Given the description of an element on the screen output the (x, y) to click on. 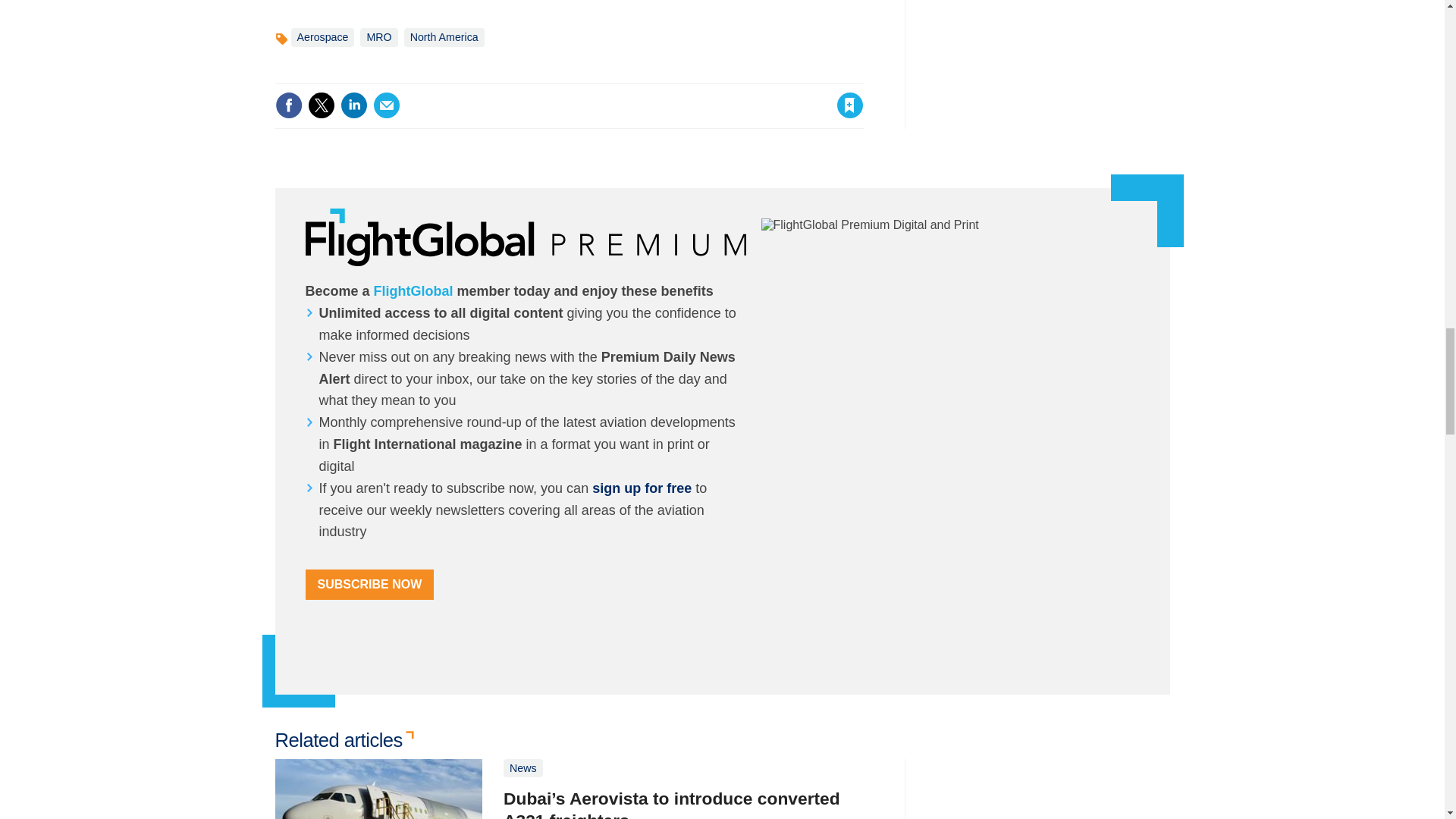
Email this article (386, 104)
Share this on Facebook (288, 104)
Share this on Twitter (320, 104)
Share this on Linked in (352, 104)
